Given the description of an element on the screen output the (x, y) to click on. 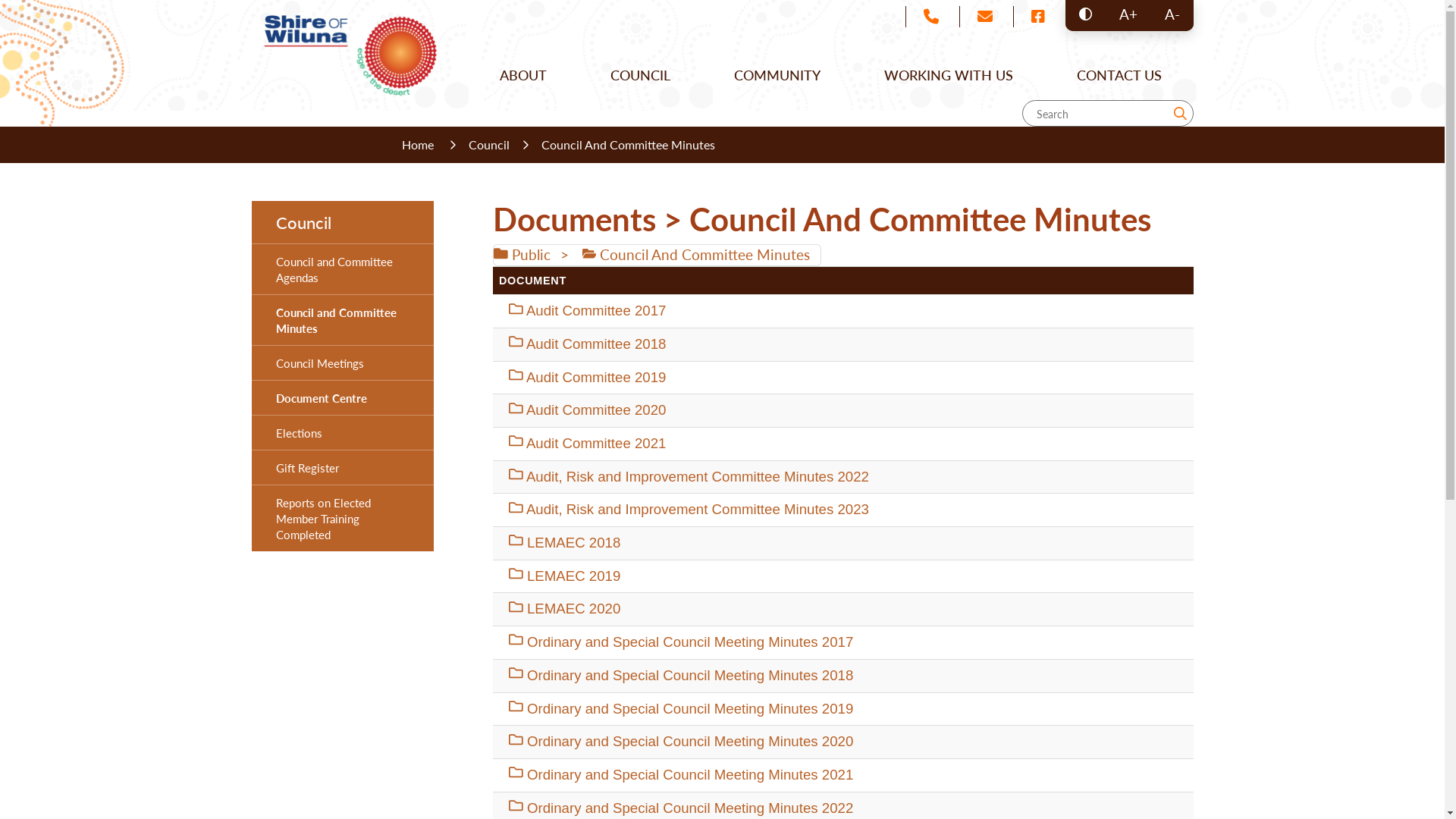
Council And Committee Minutes Element type: text (628, 144)
Facebook Element type: hover (1037, 16)
Call us Element type: hover (930, 16)
Gift Register Element type: text (342, 467)
Elections Element type: text (342, 432)
Council and Committee Agendas Element type: text (342, 269)
Council Meetings Element type: text (342, 362)
Council Element type: text (342, 221)
Home Element type: text (419, 144)
A- Element type: text (1172, 15)
Shire of Wiluna Element type: hover (349, 55)
Send us an email Element type: hover (983, 16)
WORKING WITH US Element type: text (948, 74)
COMMUNITY Element type: text (777, 74)
Reports on Elected Member Training Completed Element type: text (342, 518)
Shire of Wiluna home page Element type: hover (349, 53)
Council Element type: text (488, 144)
COUNCIL Element type: text (639, 74)
CONTACT US Element type: text (1118, 74)
A+ Element type: text (1128, 15)
ABOUT Element type: text (522, 74)
Council and Committee Minutes Element type: text (342, 319)
Document Centre Element type: text (342, 397)
